Given the description of an element on the screen output the (x, y) to click on. 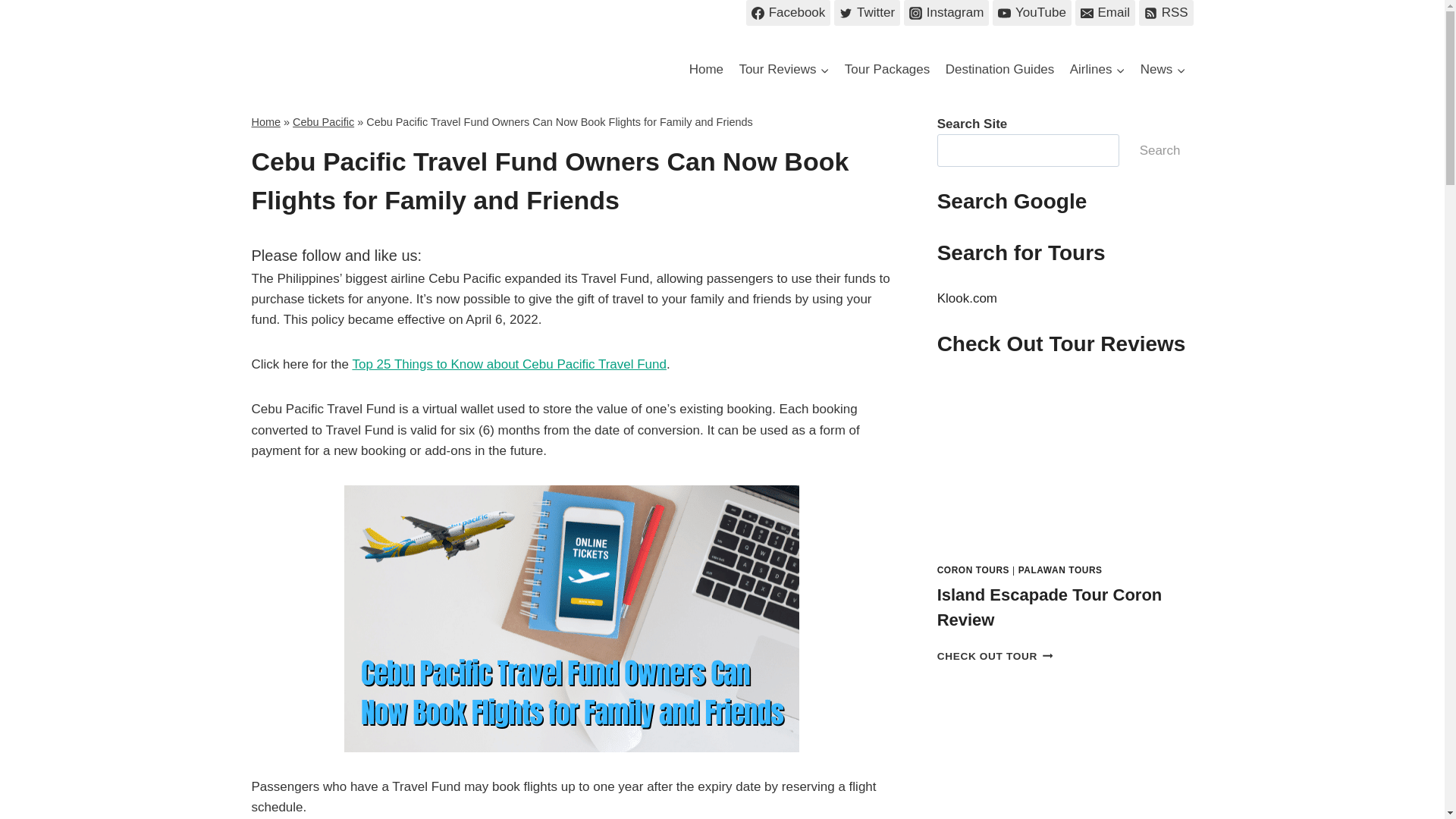
Tour Reviews (782, 69)
RSS (1165, 12)
YouTube (1031, 12)
Instagram (946, 12)
Airlines (1096, 69)
Twitter (866, 12)
Home (705, 69)
Tour Packages (887, 69)
Facebook (787, 12)
